Given the description of an element on the screen output the (x, y) to click on. 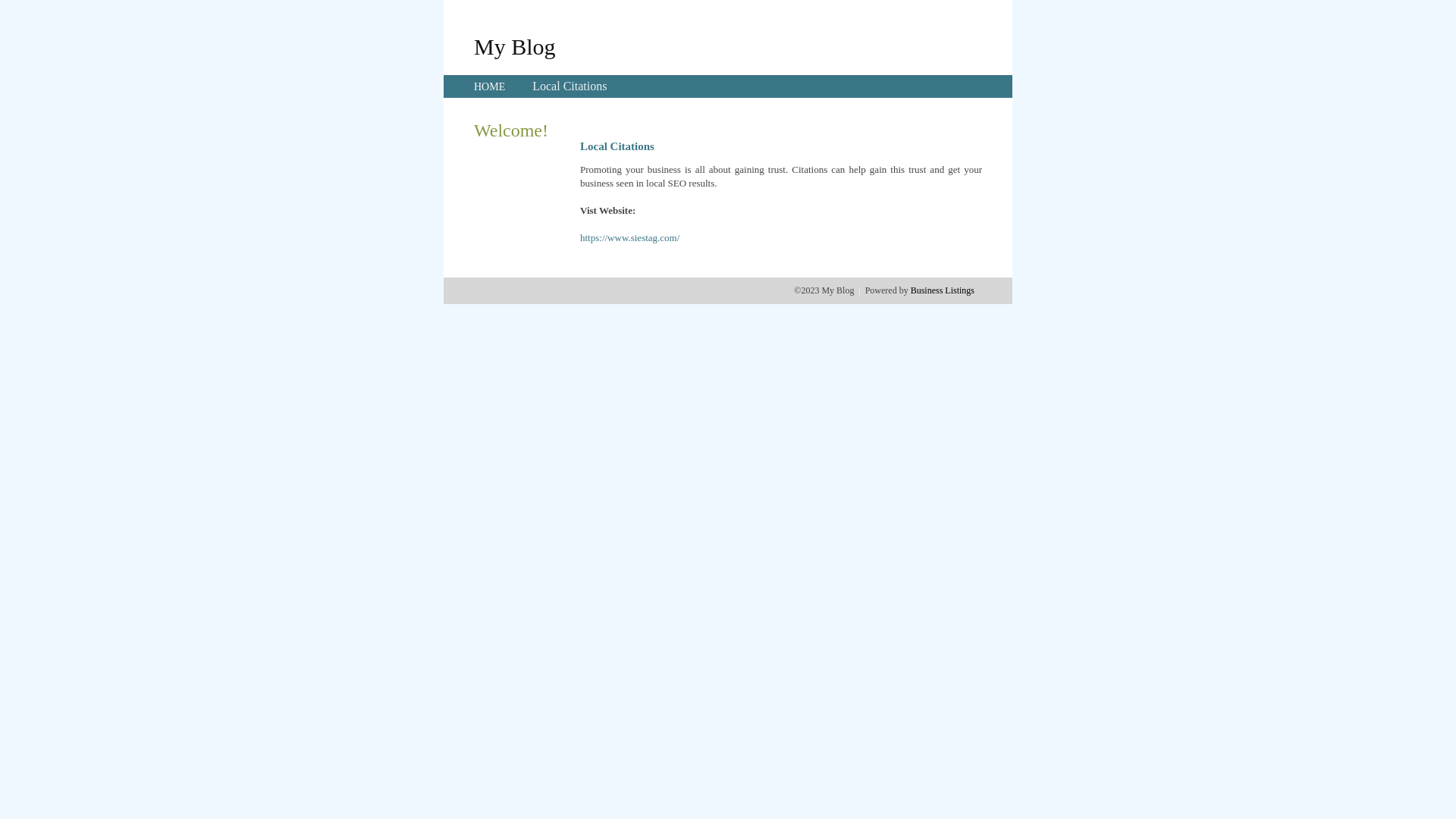
https://www.siestag.com/ Element type: text (629, 237)
My Blog Element type: text (514, 46)
Local Citations Element type: text (569, 85)
Business Listings Element type: text (942, 290)
HOME Element type: text (489, 86)
